Given the description of an element on the screen output the (x, y) to click on. 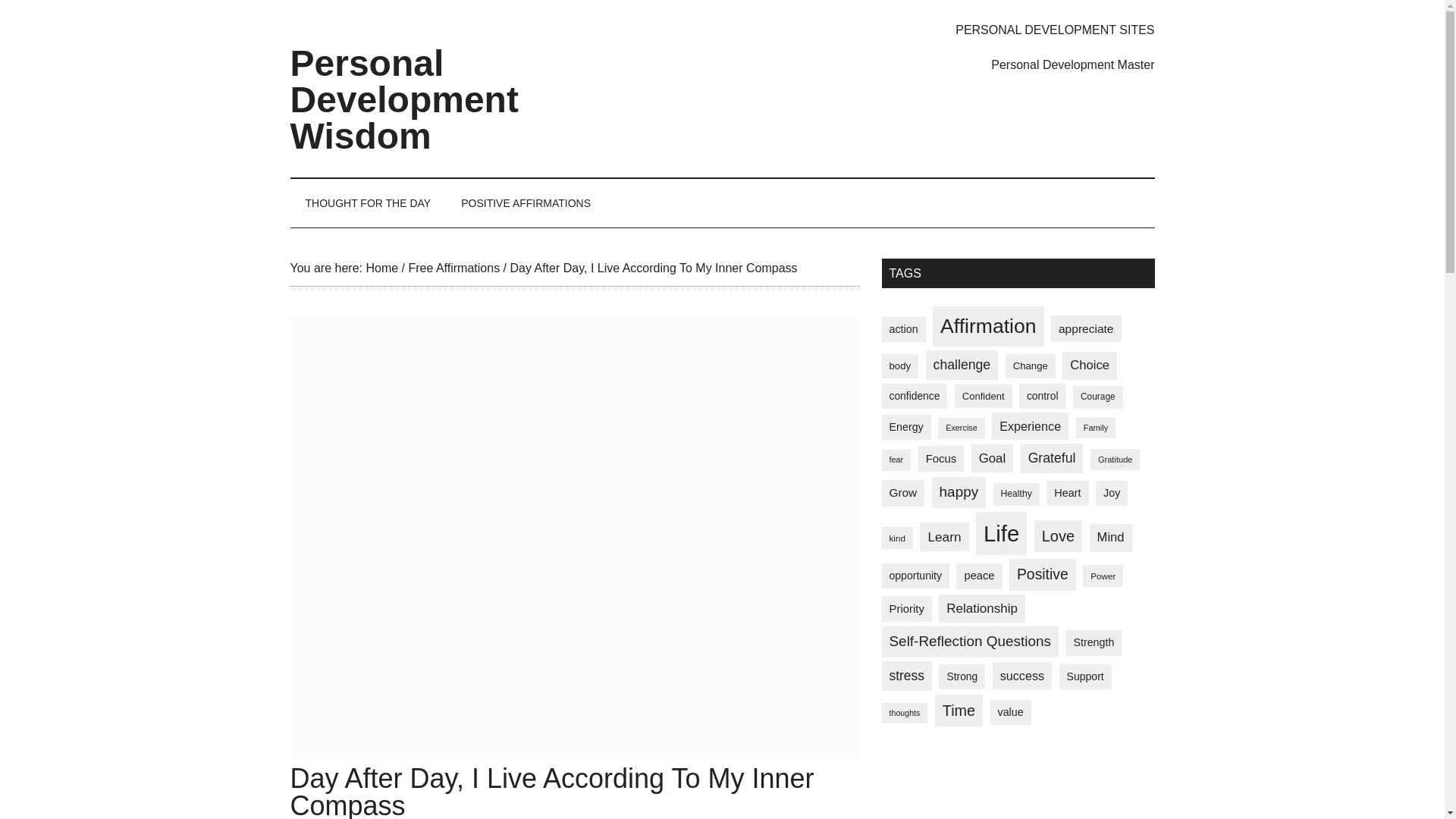
POSITIVE AFFIRMATIONS (525, 203)
Home (381, 267)
Free Affirmations (453, 267)
Personal Development Master (1072, 64)
THOUGHT FOR THE DAY (367, 203)
Personal Development Wisdom (403, 99)
